Given the description of an element on the screen output the (x, y) to click on. 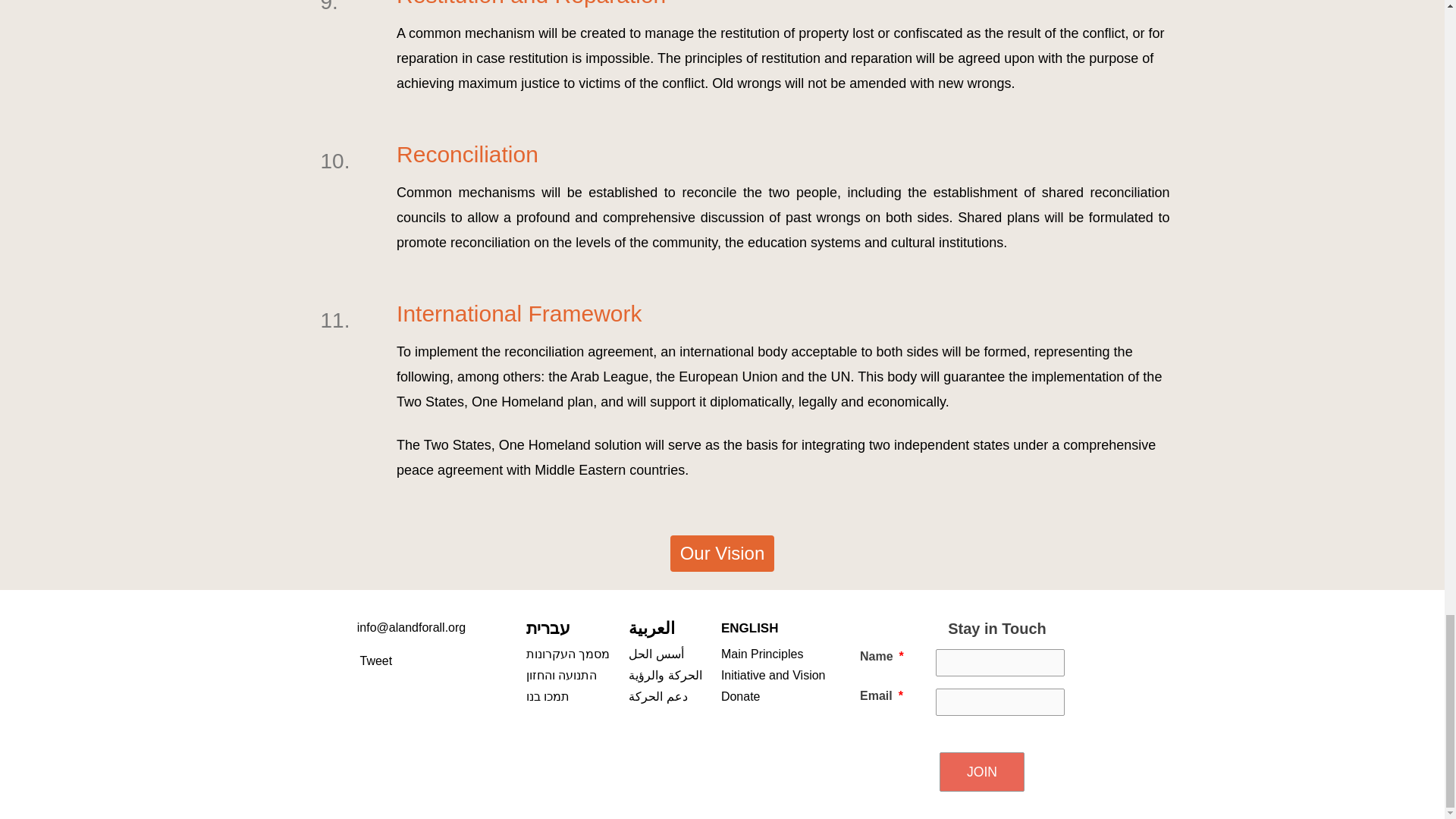
Tweet (375, 660)
Join (982, 771)
Our Vision (721, 553)
